Given the description of an element on the screen output the (x, y) to click on. 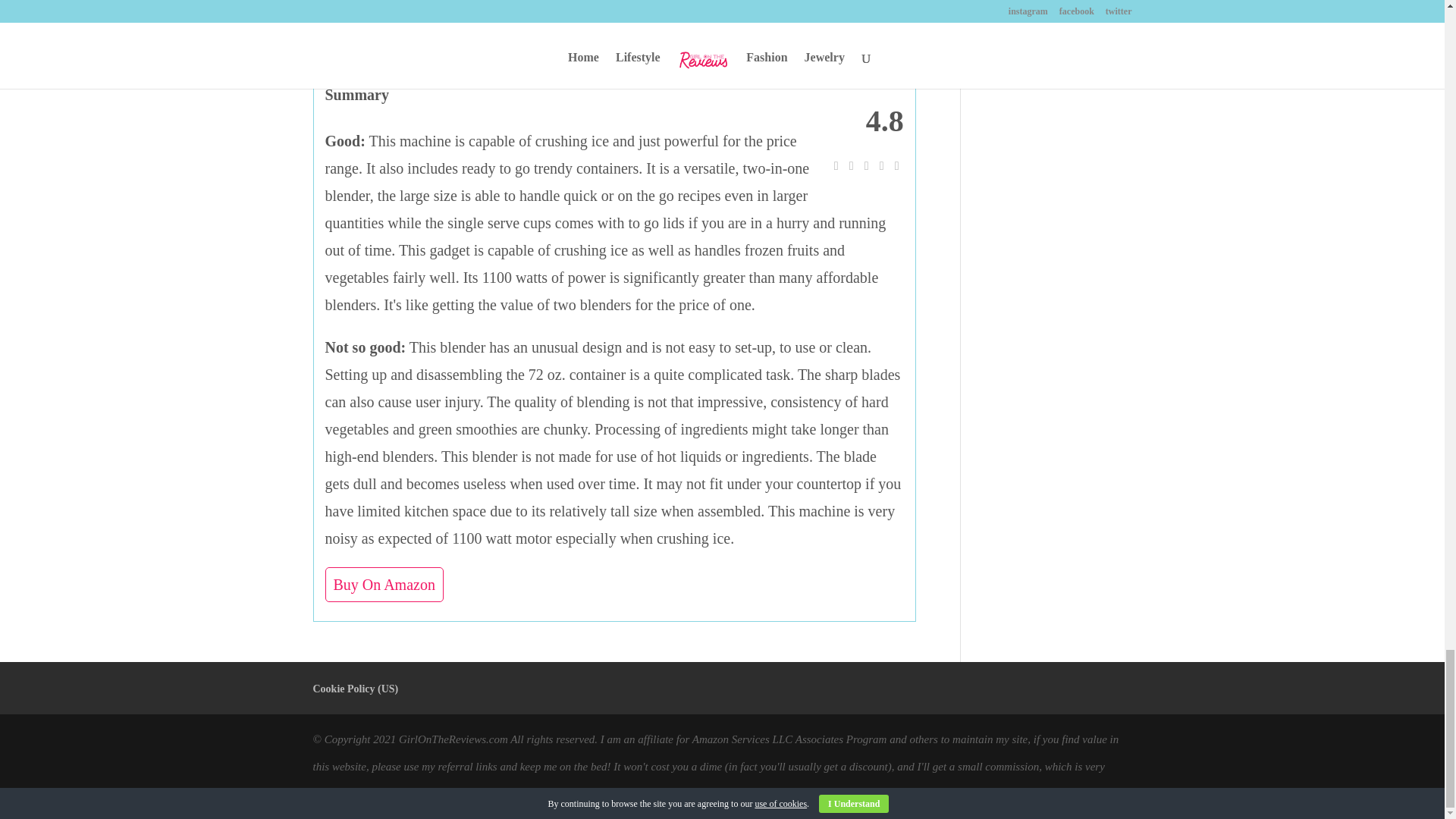
Buy On Amazon (383, 584)
GirlOnTheReviews.com (453, 739)
